Given the description of an element on the screen output the (x, y) to click on. 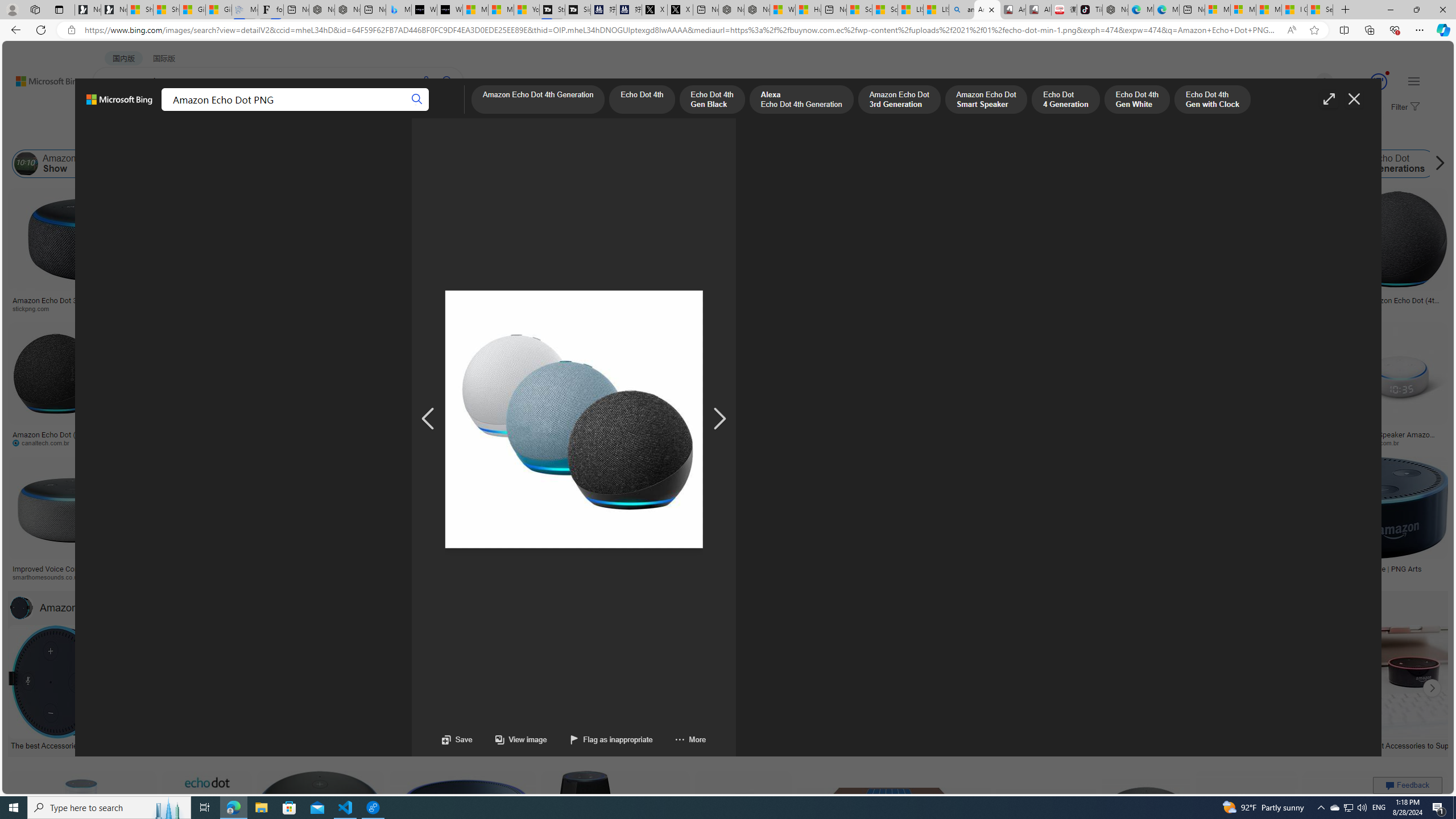
Echo Dot Accessories (828, 744)
inpower.com.br (1399, 442)
Alexa Dot Transparent Image | PNG Arts (1366, 568)
Amazon Echo Spot (1165, 163)
Amazonecho Dot With Alexa (Gen 4) (1190, 568)
